Given the description of an element on the screen output the (x, y) to click on. 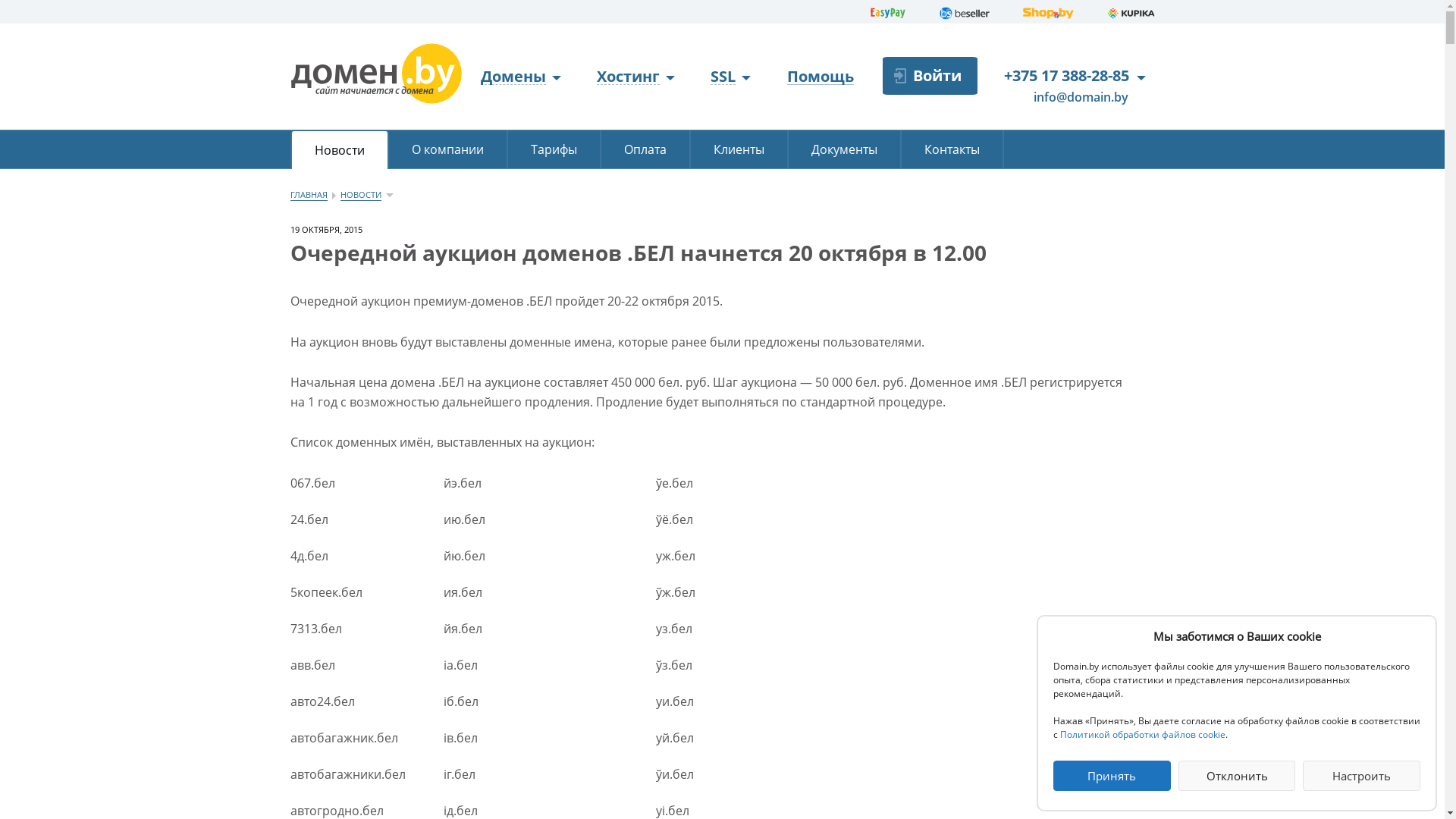
info@domain.by Element type: text (1069, 97)
SSL Element type: text (730, 76)
+375 17 388-28-85 Element type: text (1066, 75)
